Given the description of an element on the screen output the (x, y) to click on. 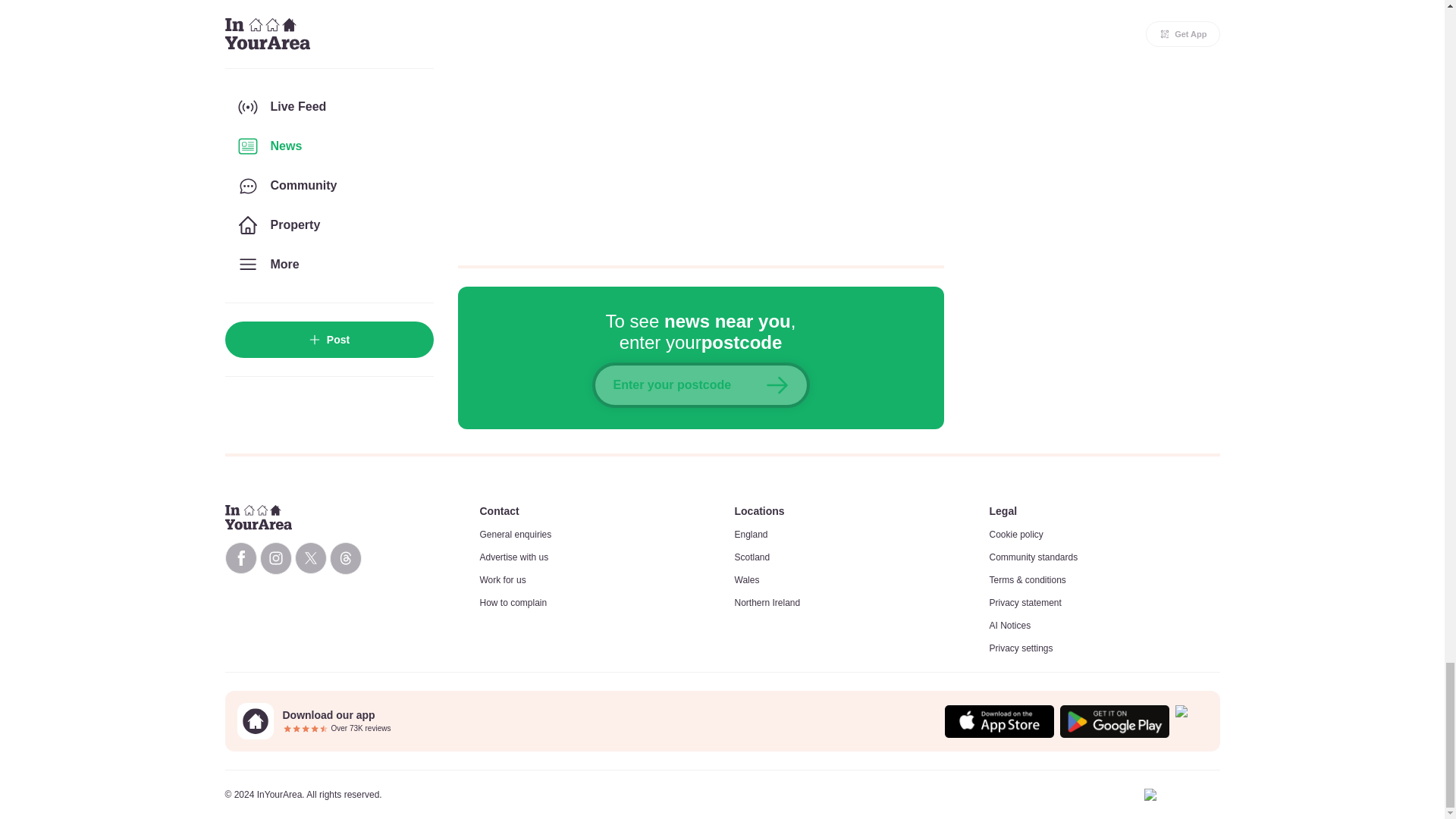
InYourArea Instagram (275, 558)
comments (701, 122)
InYourArea Threads (345, 558)
InYourArea X (310, 558)
InYourArea Facebook (240, 558)
